Given the description of an element on the screen output the (x, y) to click on. 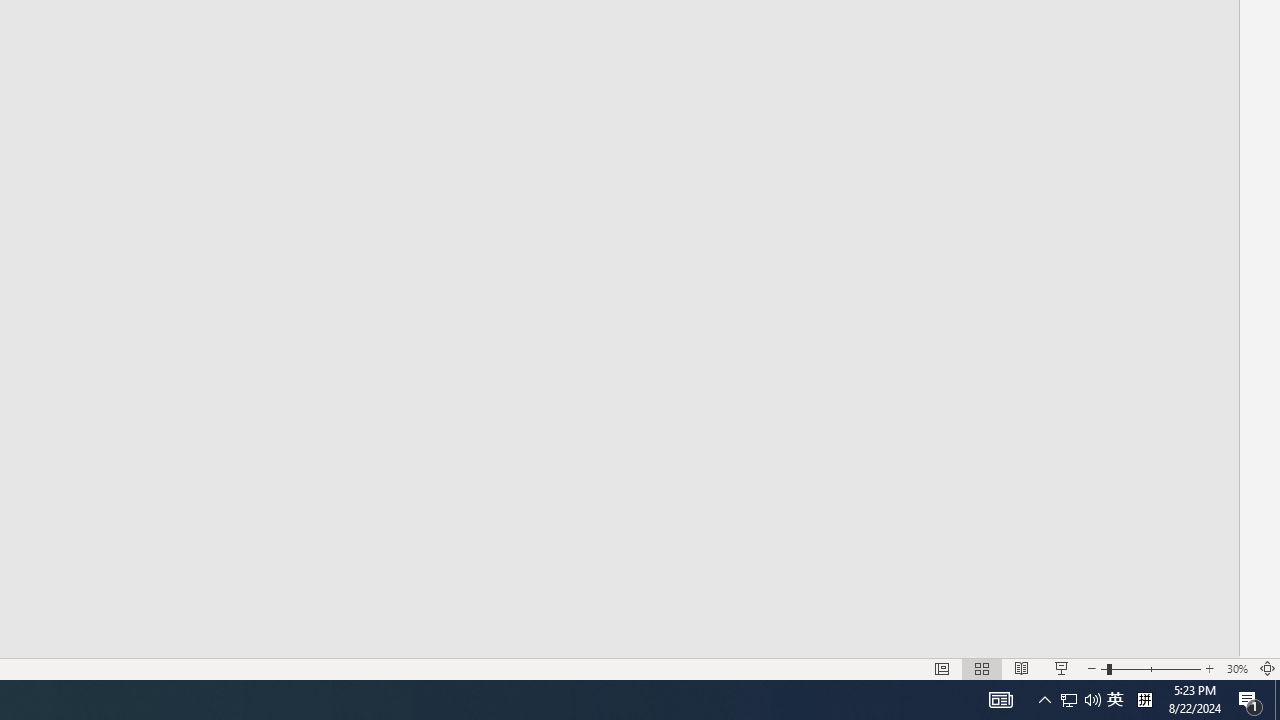
Zoom 30% (1236, 668)
